Given the description of an element on the screen output the (x, y) to click on. 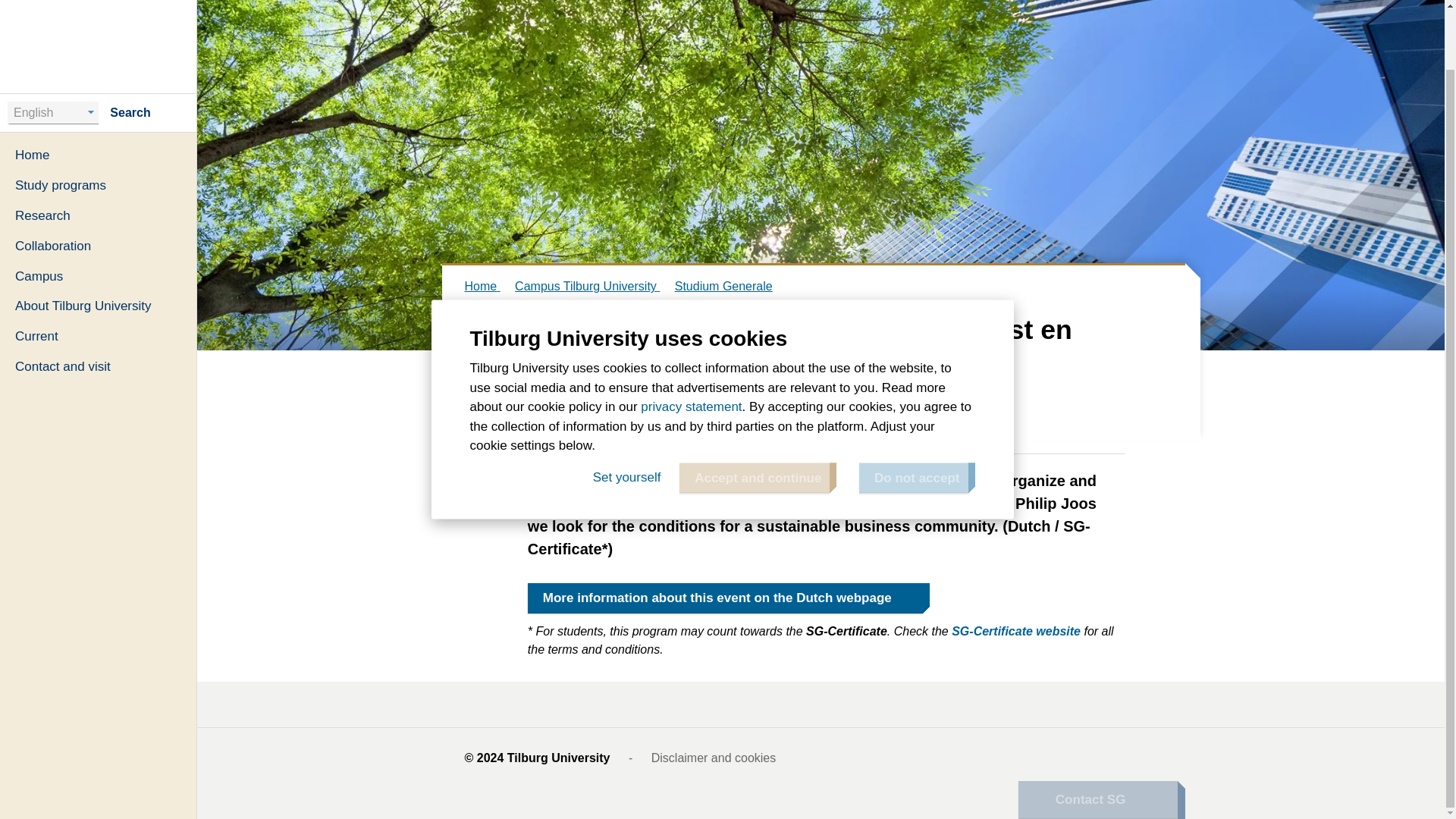
Current (98, 271)
Go to the homepage of (98, 6)
Instagram (1161, 757)
SG-Certificate website (1016, 631)
YouTube (1025, 757)
Black Box Esplanade gebouw, Tilburg University (742, 420)
Contact SG (1096, 734)
Campus Tilburg University (593, 286)
More information about this event on the Dutch webpage (725, 598)
Campus (98, 210)
